Given the description of an element on the screen output the (x, y) to click on. 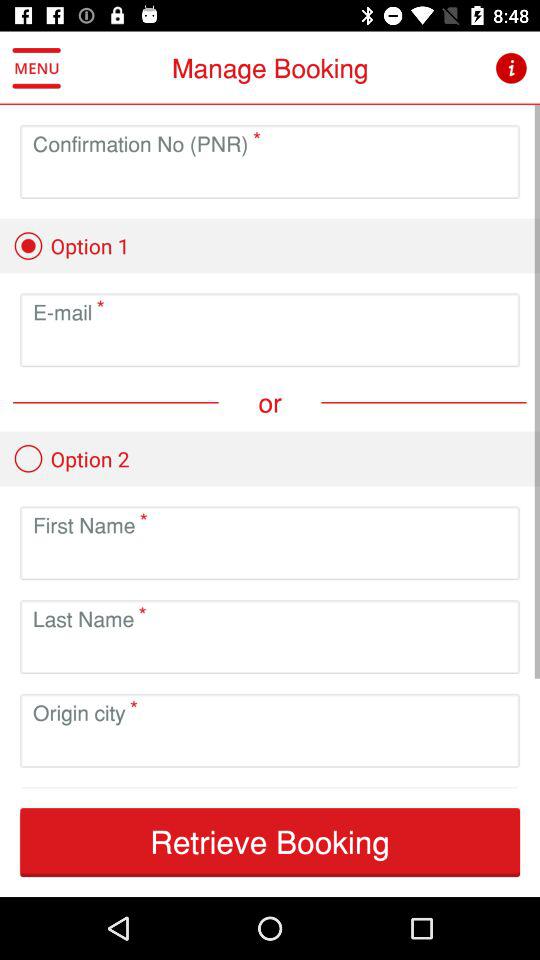
enter confirmation number (270, 177)
